Given the description of an element on the screen output the (x, y) to click on. 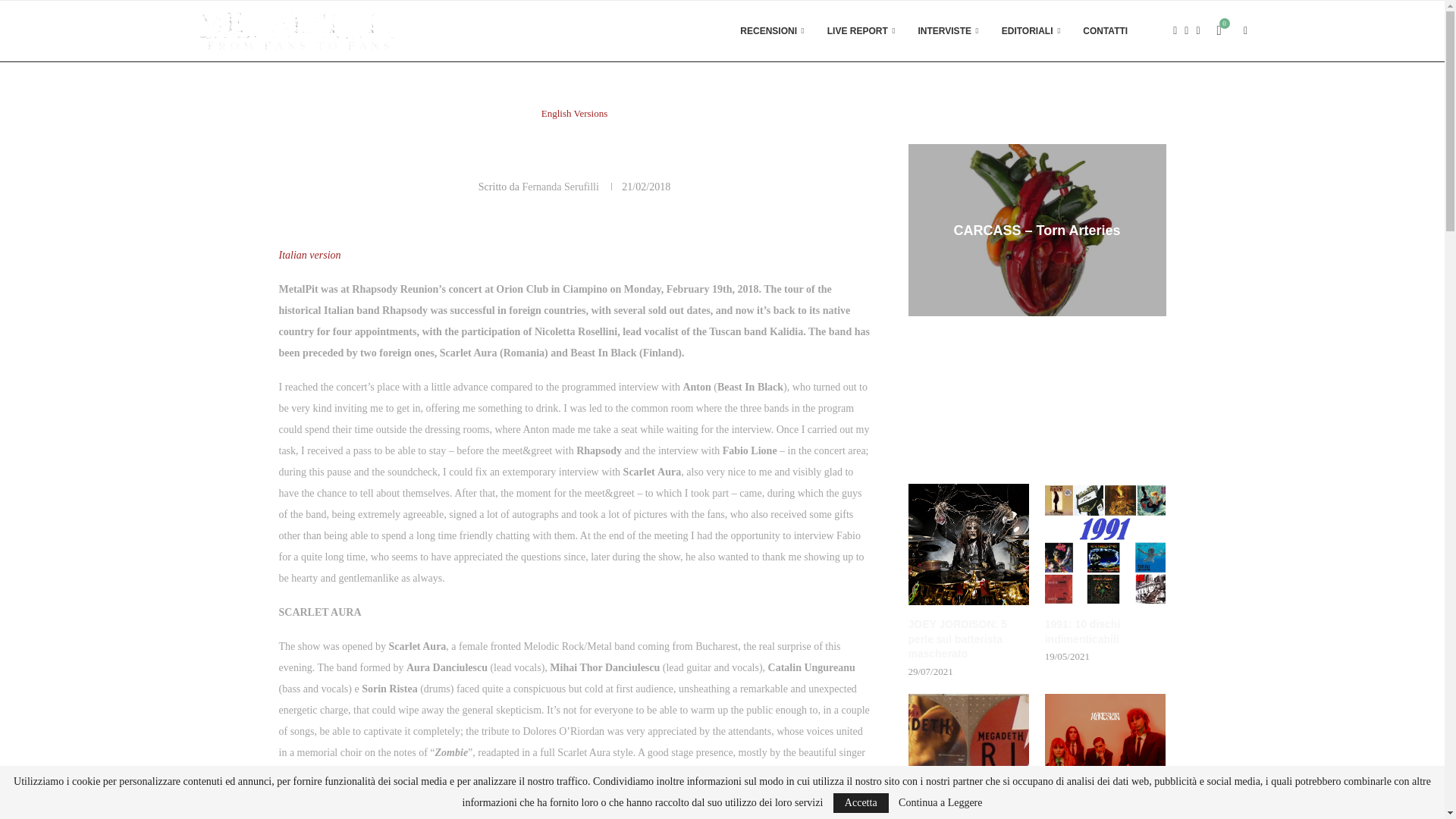
Posts by Fernanda Serufilli (559, 186)
English Versions (574, 113)
Fernanda Serufilli (559, 186)
LIVE REPORT (861, 30)
RECENSIONI (771, 30)
INTERVISTE (947, 30)
EDITORIALI (1031, 30)
Italian version (309, 255)
